Given the description of an element on the screen output the (x, y) to click on. 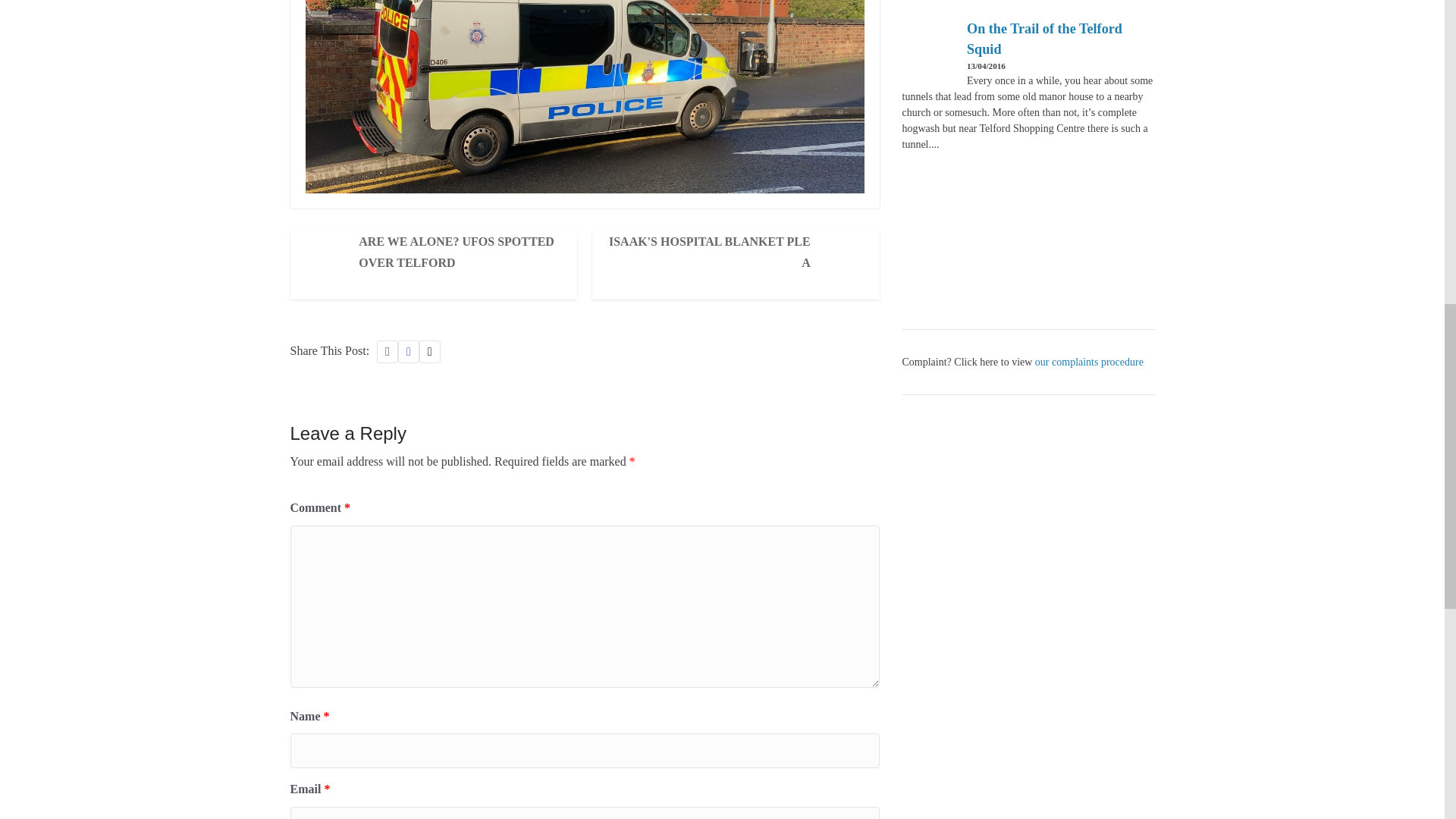
ARE WE ALONE? UFOS SPOTTED OVER TELFORD (454, 251)
our complaints procedure (1088, 361)
ISAAK'S HOSPITAL BLANKET PLEA (714, 251)
On the Trail of the Telford Squid (1044, 40)
